Given the description of an element on the screen output the (x, y) to click on. 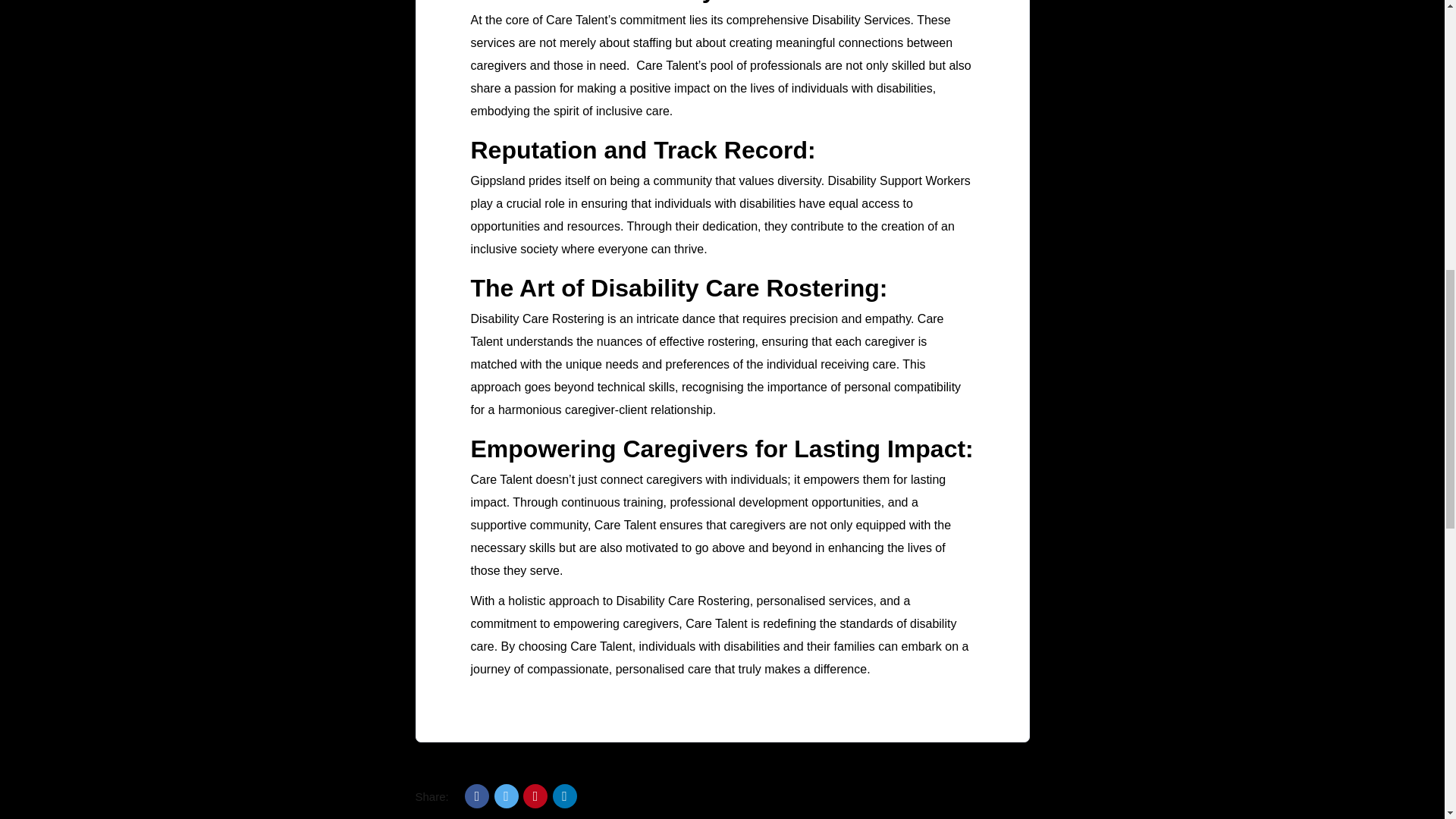
Pinterest (534, 795)
LinkedIn (564, 795)
Facebook (476, 795)
Twitter (506, 795)
